Given the description of an element on the screen output the (x, y) to click on. 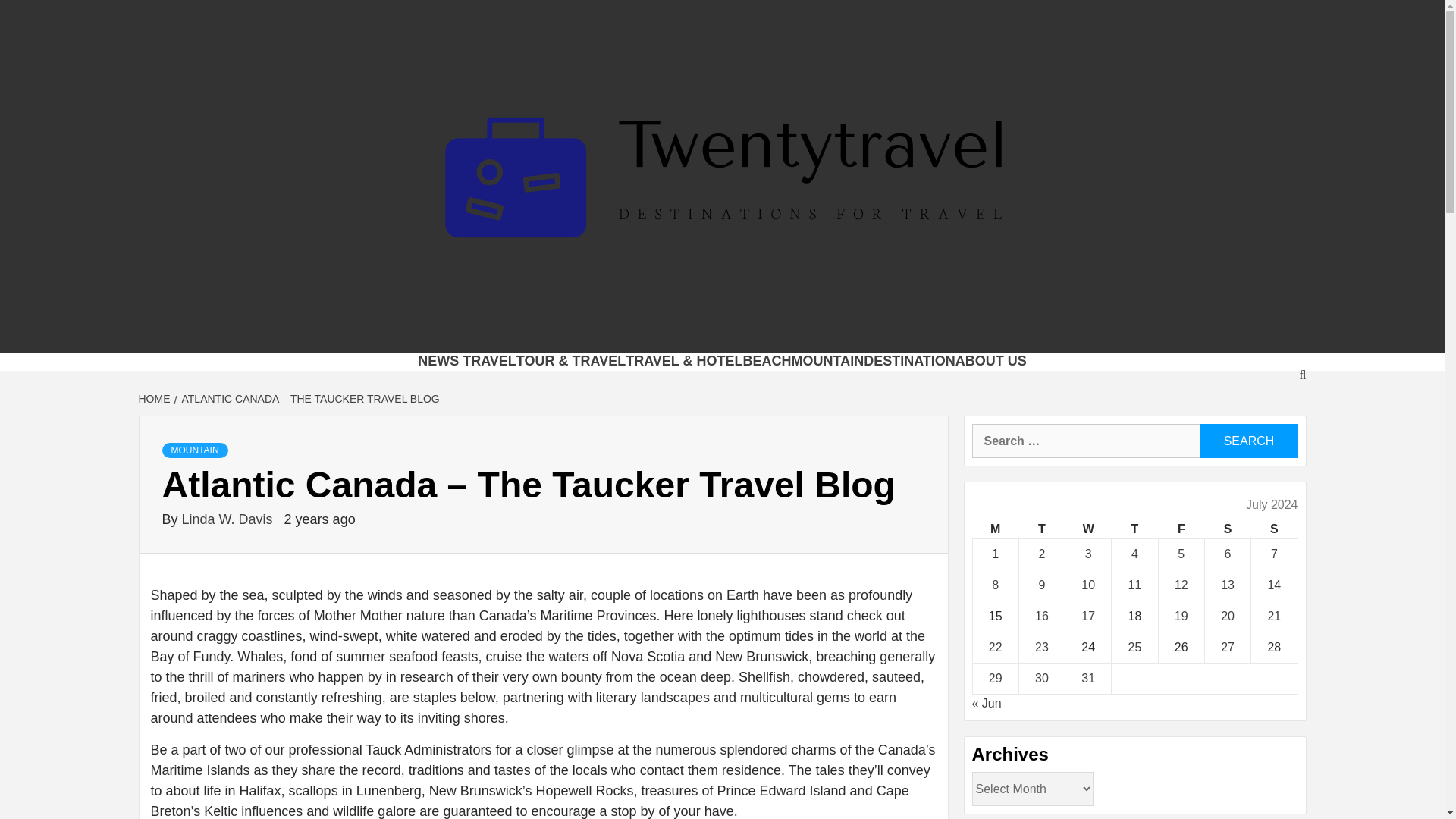
Friday (1180, 529)
Tuesday (1040, 529)
Search (1248, 440)
Thursday (1134, 529)
Saturday (1227, 529)
DESTINATION (909, 360)
Linda W. Davis (229, 519)
NEWS TRAVEL (466, 360)
Wednesday (1088, 529)
Monday (994, 529)
ABOUT US (990, 360)
HOME (155, 398)
TWENTYTRAVEL (450, 333)
Sunday (1273, 529)
Search (1248, 440)
